Given the description of an element on the screen output the (x, y) to click on. 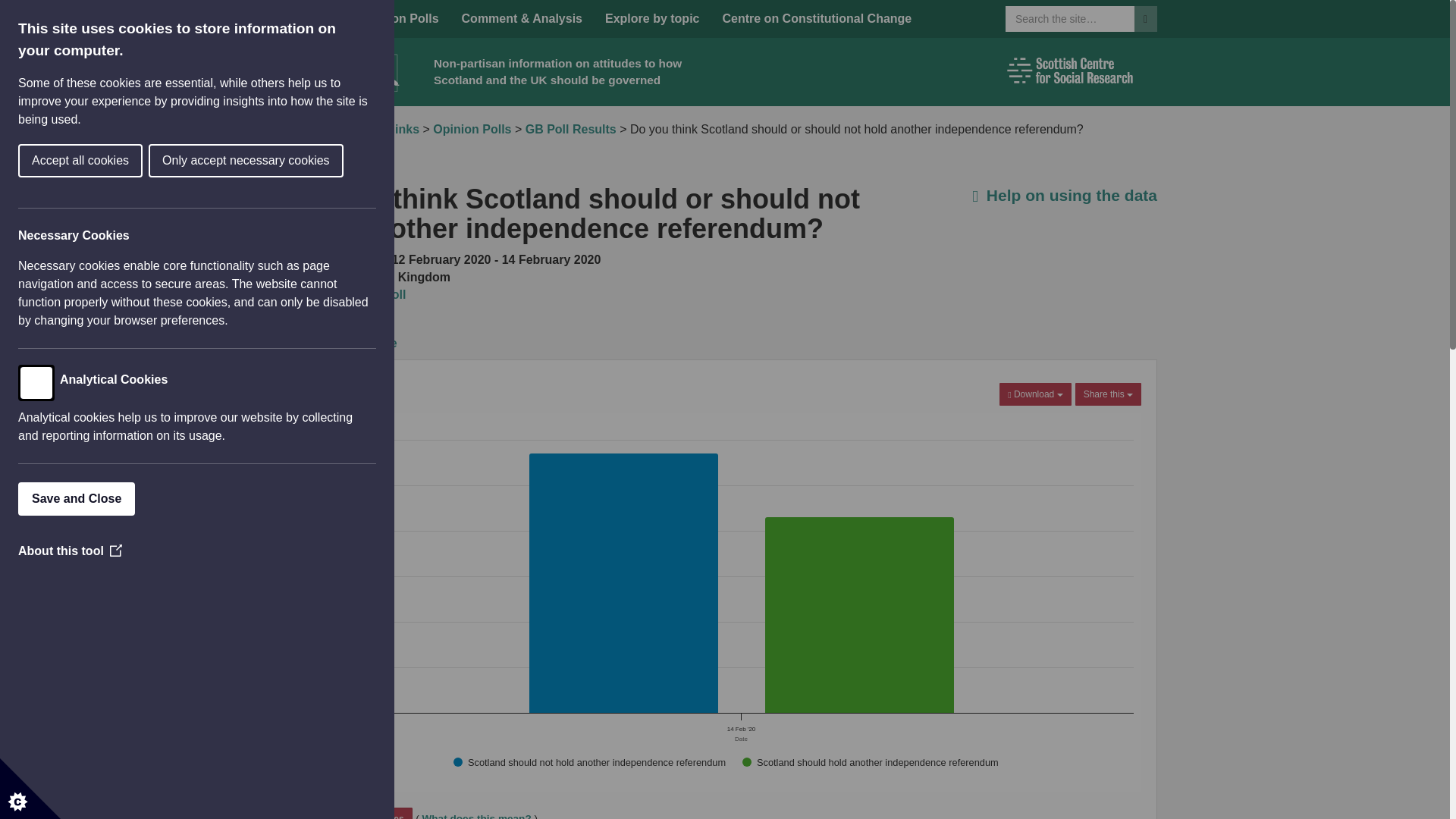
What Scotland Thinks (488, 98)
Go to What Scotland Thinks. (471, 128)
Opinion Polls (355, 128)
What Scotland Thinks (399, 18)
Only accept necessary cookies (355, 128)
Centre on Constitutional Change (88, 160)
Download (816, 18)
Combine responses (1034, 394)
1 poll (360, 813)
Home (390, 294)
Opinion Polls (320, 18)
Help on using the data (399, 18)
GB Poll Results (1064, 194)
